Given the description of an element on the screen output the (x, y) to click on. 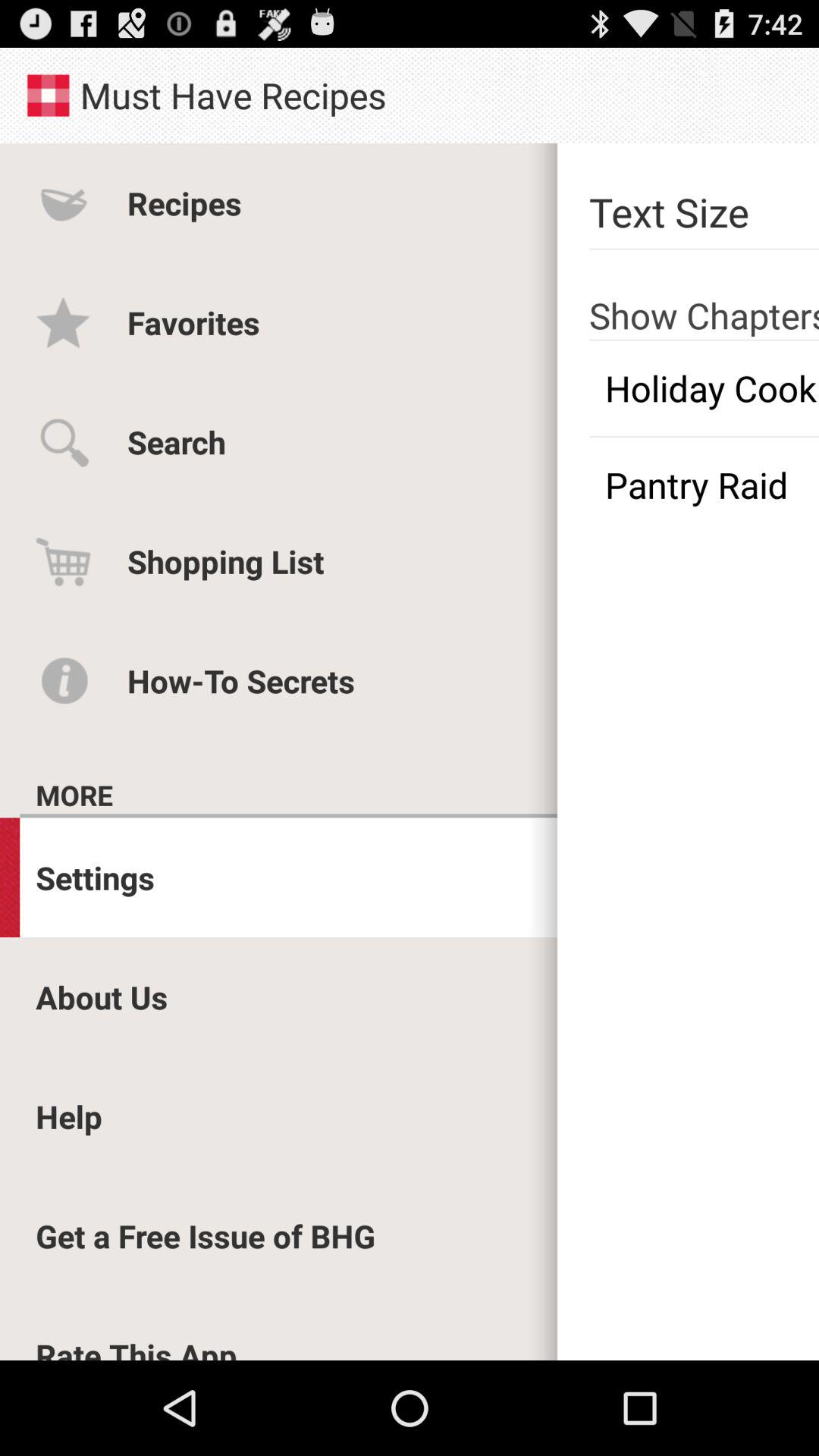
select app above about us app (94, 877)
